Given the description of an element on the screen output the (x, y) to click on. 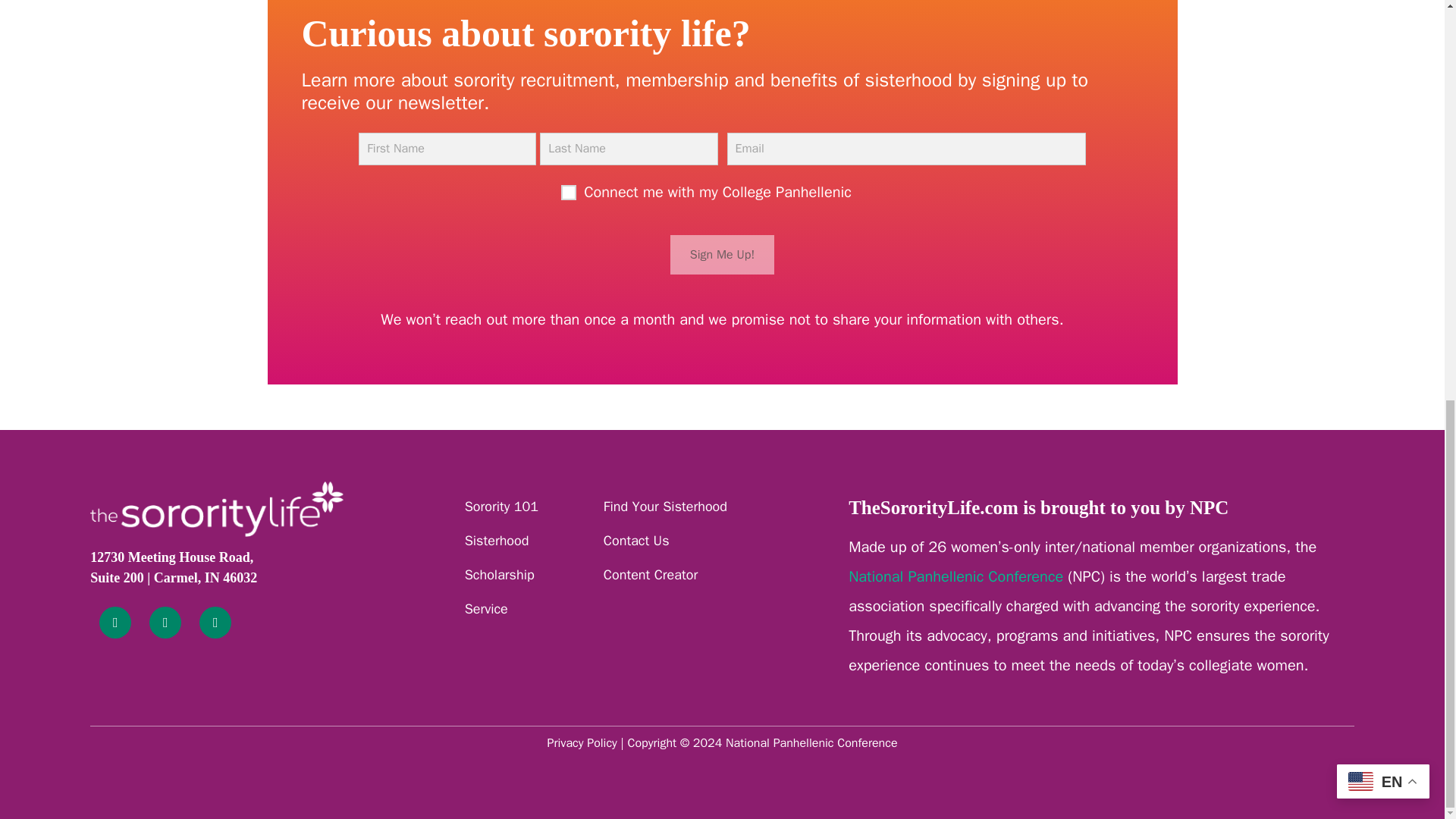
Find Your Sisterhood (665, 506)
Sisterhood (496, 540)
Sign Me Up! (721, 254)
Privacy Policy (581, 743)
Contact Us (636, 540)
Scholarship (499, 574)
Sorority 101 (501, 506)
Link to Instagram profile. (164, 622)
National Panhellenic Conference (955, 576)
Service (486, 608)
